Given the description of an element on the screen output the (x, y) to click on. 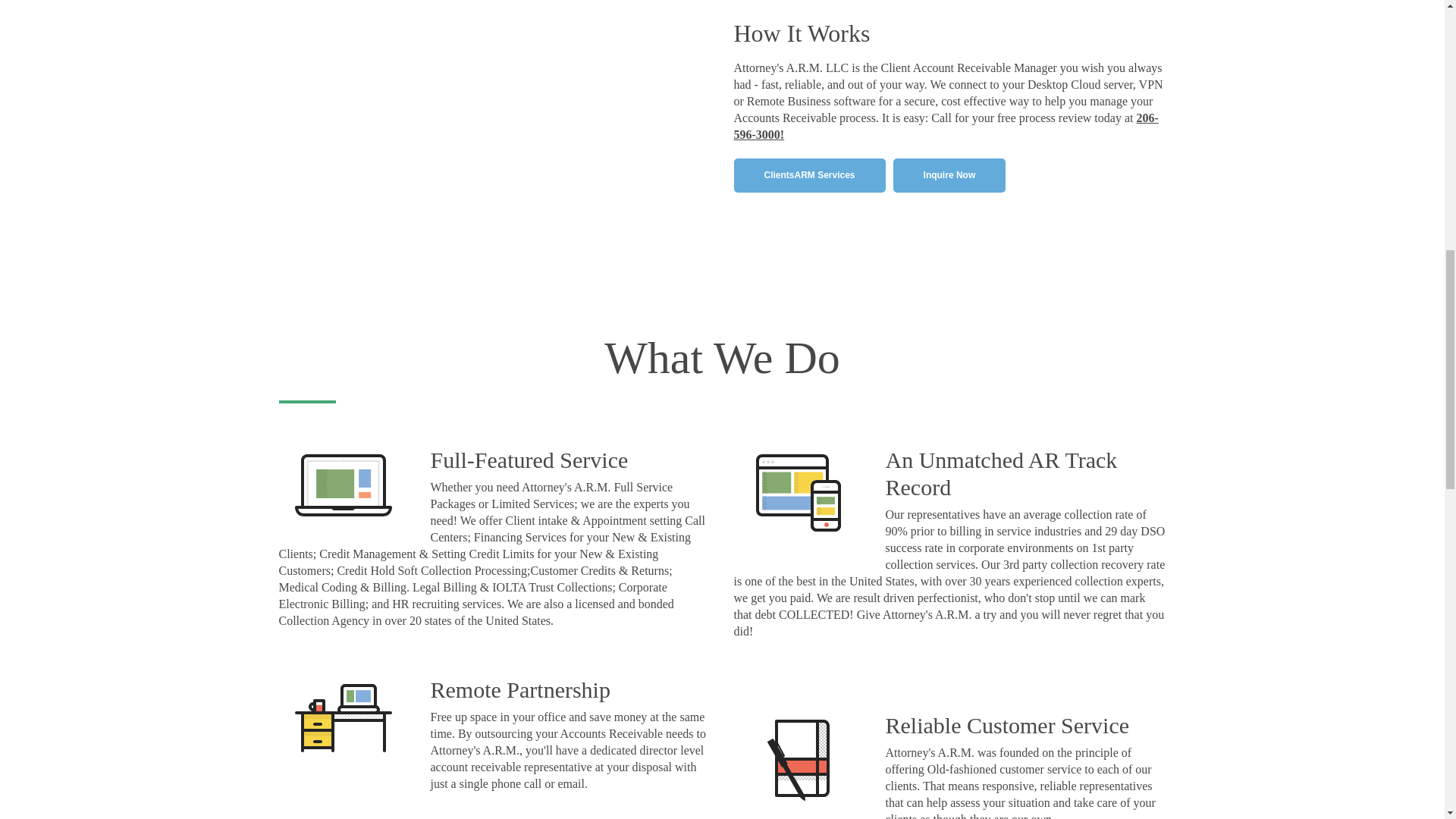
An Unmatched AR Track Record (1001, 473)
Inquire Now (949, 174)
Full-Featured Service (529, 459)
Remote Partnership (520, 689)
Reliable Customer Service (1007, 724)
ClientsARM Services (809, 174)
